Given the description of an element on the screen output the (x, y) to click on. 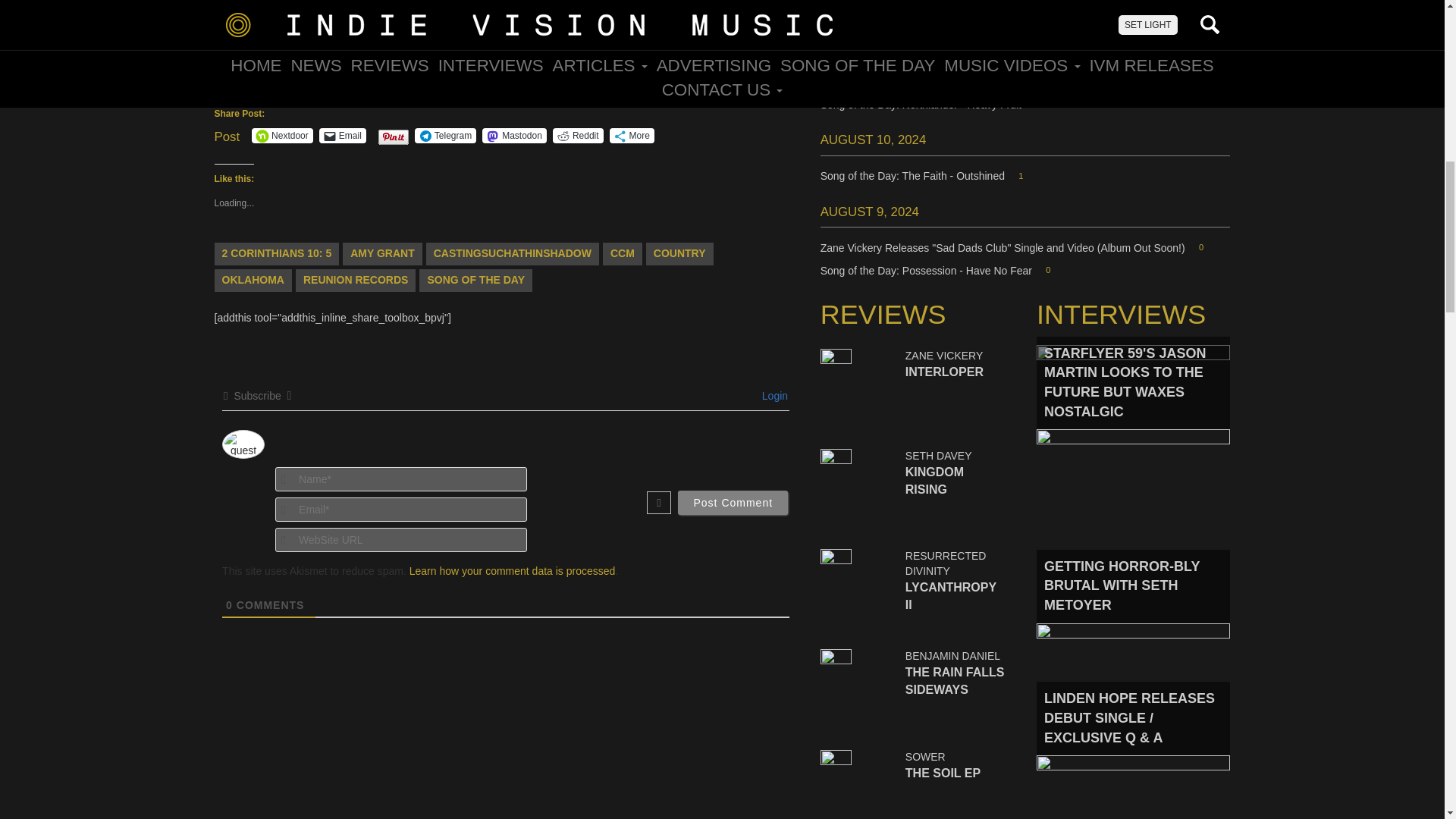
Nextdoor (282, 135)
Post (227, 134)
More (631, 135)
Email (342, 135)
Mastodon (514, 135)
Telegram (445, 135)
Click to share on Mastodon (514, 135)
Click to share on Nextdoor (282, 135)
Post Comment (732, 502)
Click to share on Telegram (445, 135)
